Given the description of an element on the screen output the (x, y) to click on. 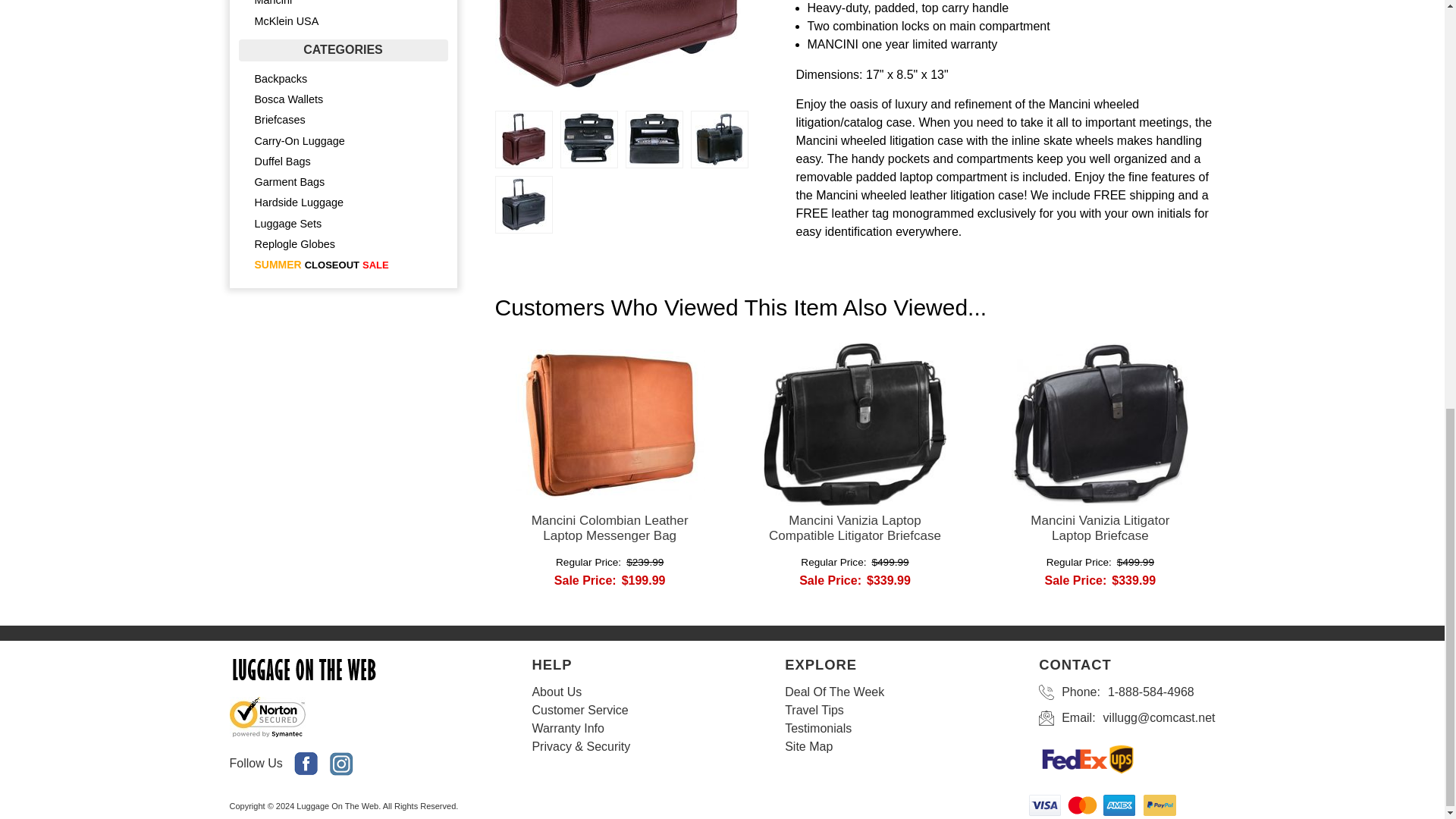
Mancini Colombian Leather Laptop Messenger Bag (609, 527)
Mancini Vanizia Laptop Compatible Litigator Briefcase (855, 527)
Mancini Vanizia Laptop Compatible Litigator Briefcase (855, 527)
Mancini Vanizia Litigator Laptop Briefcase (1099, 527)
Mancini Vanizia Litigator Laptop Briefcase (1099, 527)
Mancini Colombian Leather Laptop Messenger Bag (609, 527)
